Given the description of an element on the screen output the (x, y) to click on. 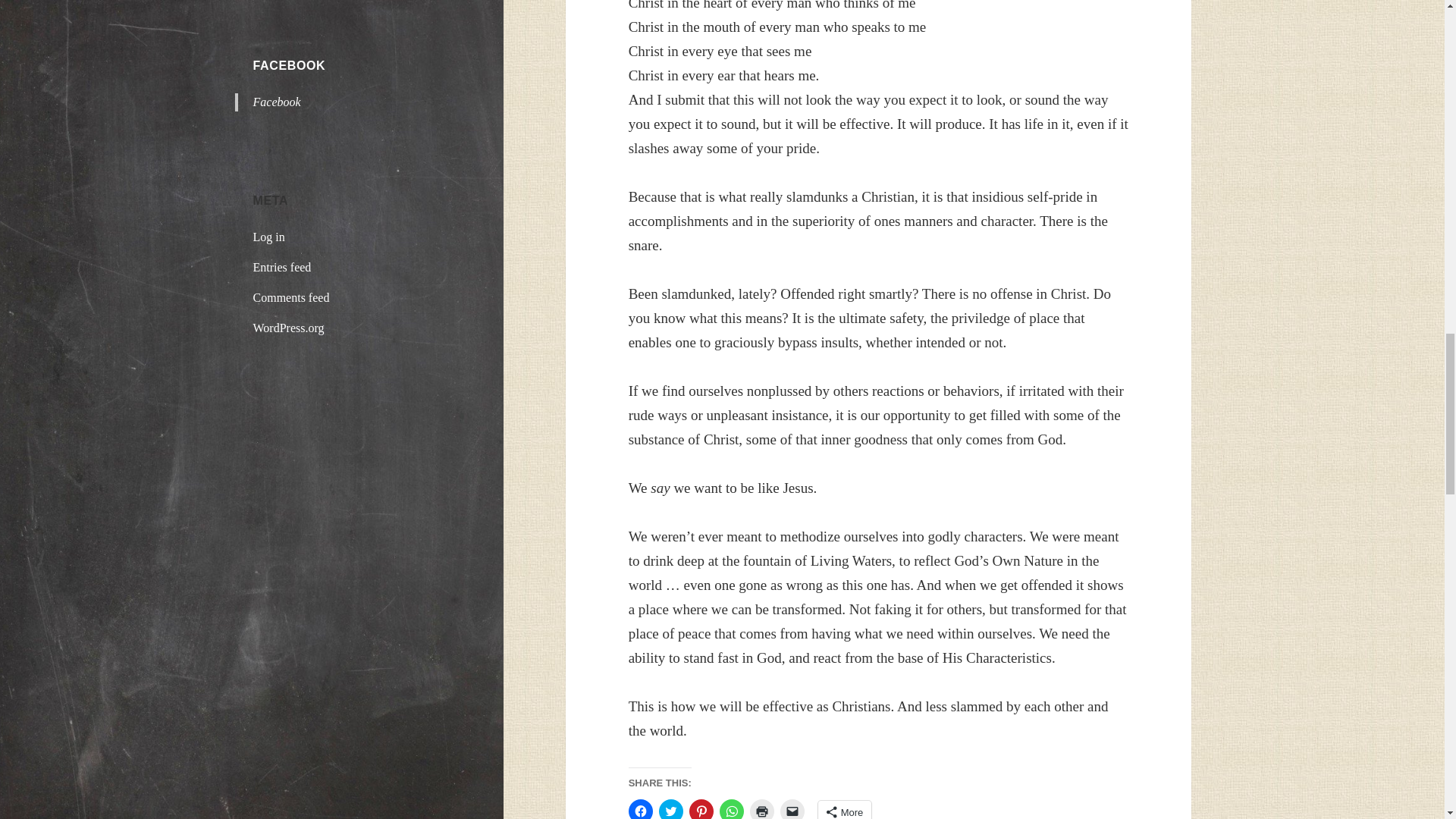
Click to share on WhatsApp (731, 809)
More (845, 809)
Click to share on Pinterest (700, 809)
FACEBOOK (289, 65)
Entries feed (282, 267)
Comments feed (291, 297)
Click to share on Twitter (670, 809)
Click to email a link to a friend (792, 809)
Click to print (761, 809)
WordPress.org (288, 327)
